Given the description of an element on the screen output the (x, y) to click on. 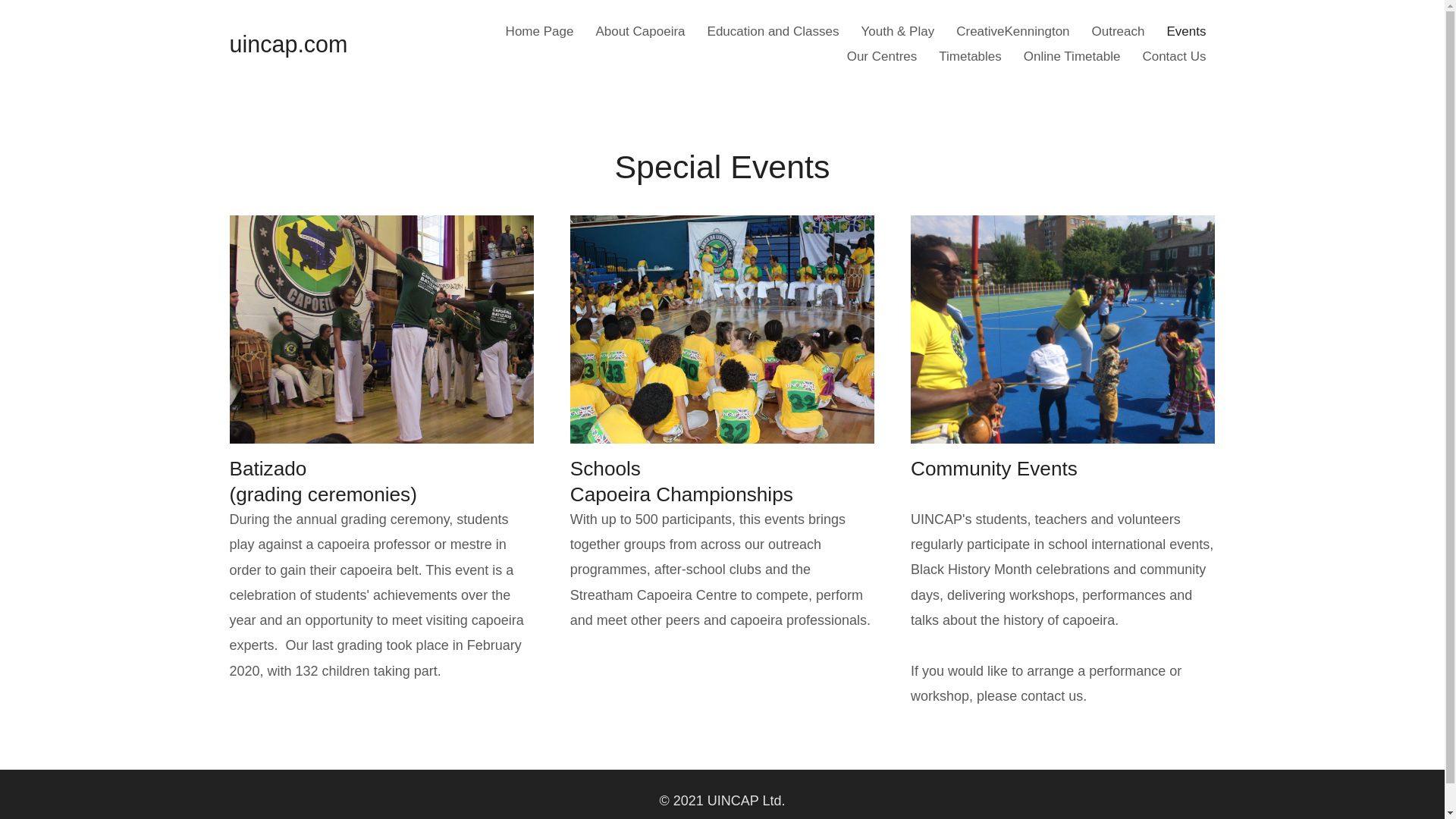
CreativeKennington (1012, 31)
Education and Classes (773, 31)
Outreach (1118, 31)
Our Centres (882, 56)
Online Timetable (1071, 56)
Home Page (539, 31)
uincap.com (287, 43)
Events (1186, 31)
About Capoeira (640, 31)
Contact Us (1173, 56)
